Given the description of an element on the screen output the (x, y) to click on. 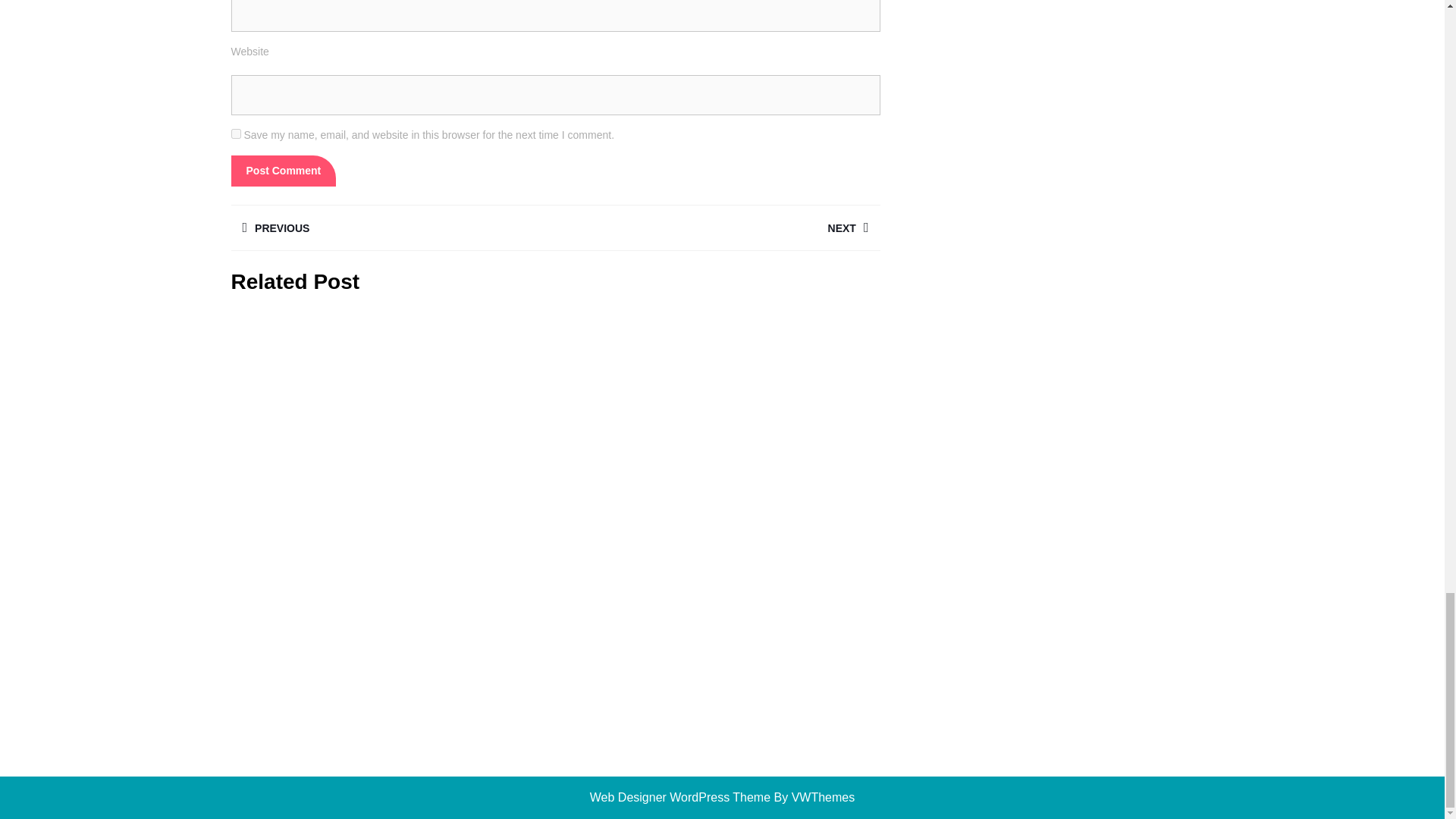
yes (716, 227)
Post Comment (235, 133)
Post Comment (283, 170)
Web Designer WordPress Theme (283, 170)
